Given the description of an element on the screen output the (x, y) to click on. 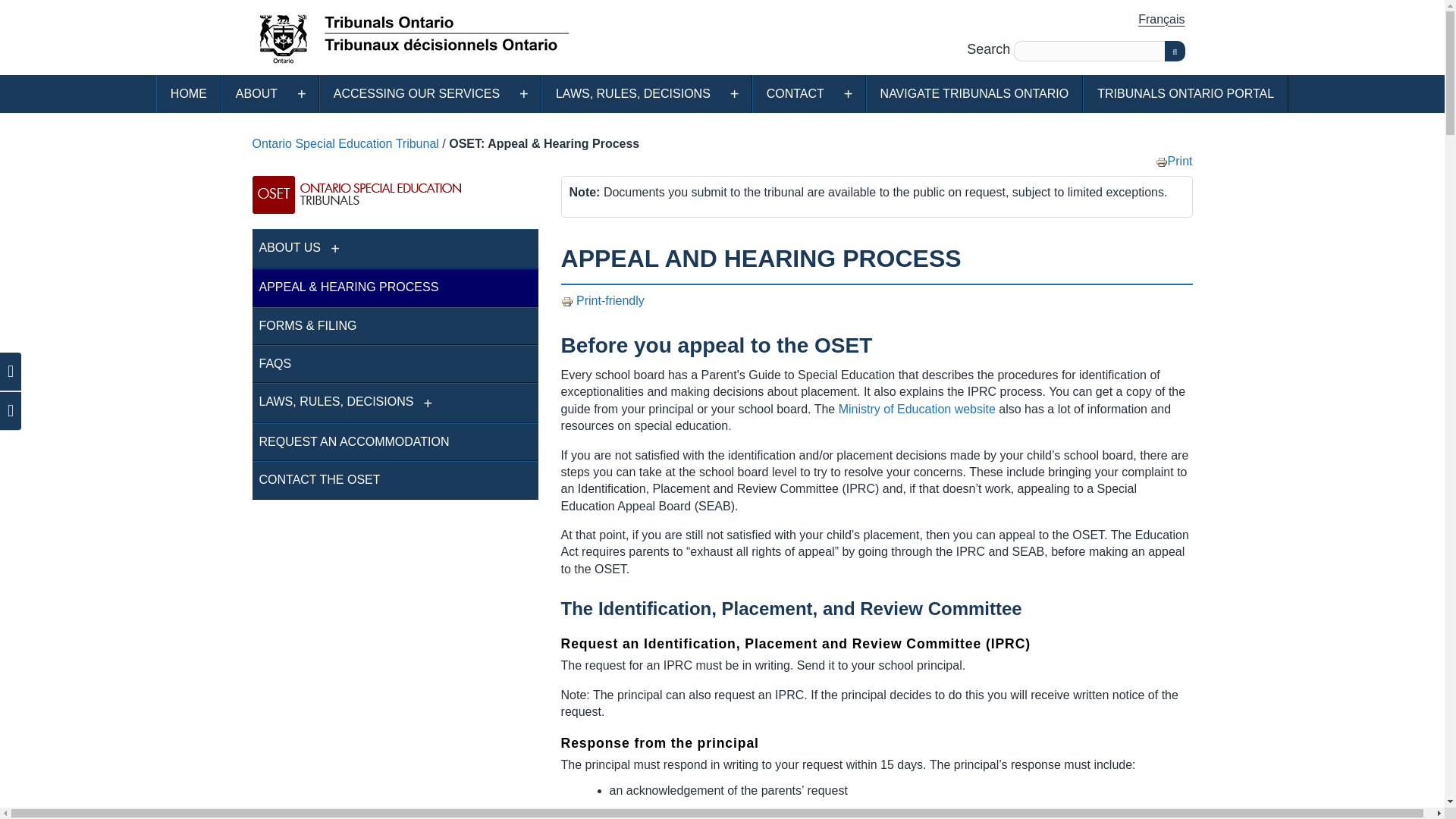
LAWS, RULES, DECISIONS (632, 94)
ACCESSING OUR SERVICES (416, 94)
HOME (189, 94)
ABOUT (256, 94)
CONTACT (795, 94)
